Given the description of an element on the screen output the (x, y) to click on. 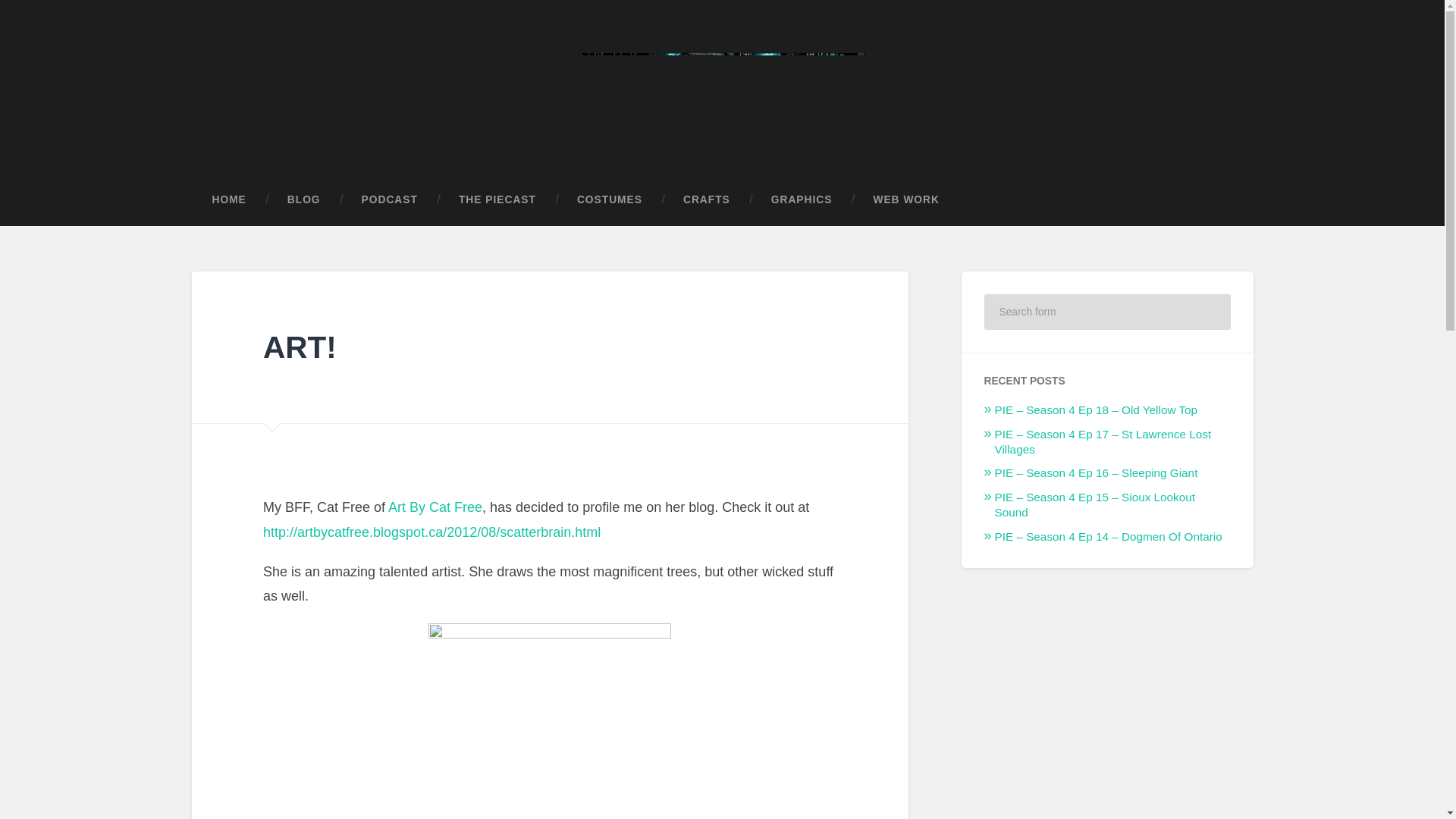
Search (1209, 311)
GRAPHICS (802, 200)
ART! (299, 347)
THE PIECAST (497, 200)
HOME (228, 200)
Art By Cat Free (434, 507)
COSTUMES (609, 200)
WEB WORK (905, 200)
Search (1209, 311)
CRAFTS (706, 200)
